Given the description of an element on the screen output the (x, y) to click on. 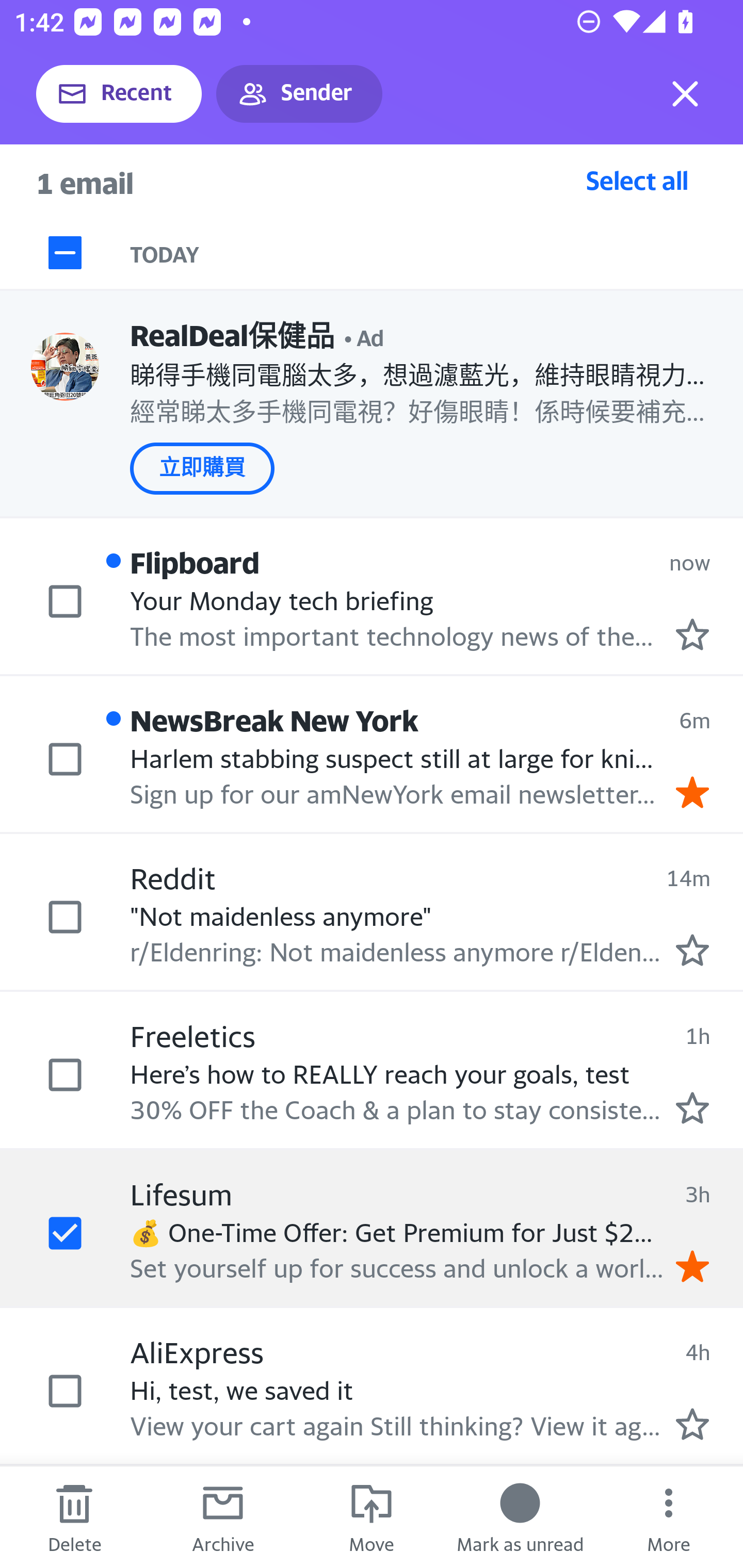
Sender (299, 93)
Exit selection mode (684, 93)
Select all (637, 180)
TODAY (436, 252)
Mark as starred. (692, 634)
Remove star. (692, 792)
Mark as starred. (692, 949)
Mark as starred. (692, 1107)
Remove star. (692, 1266)
Mark as starred. (692, 1424)
Delete (74, 1517)
Archive (222, 1517)
Move (371, 1517)
Mark as unread (519, 1517)
More (668, 1517)
